Given the description of an element on the screen output the (x, y) to click on. 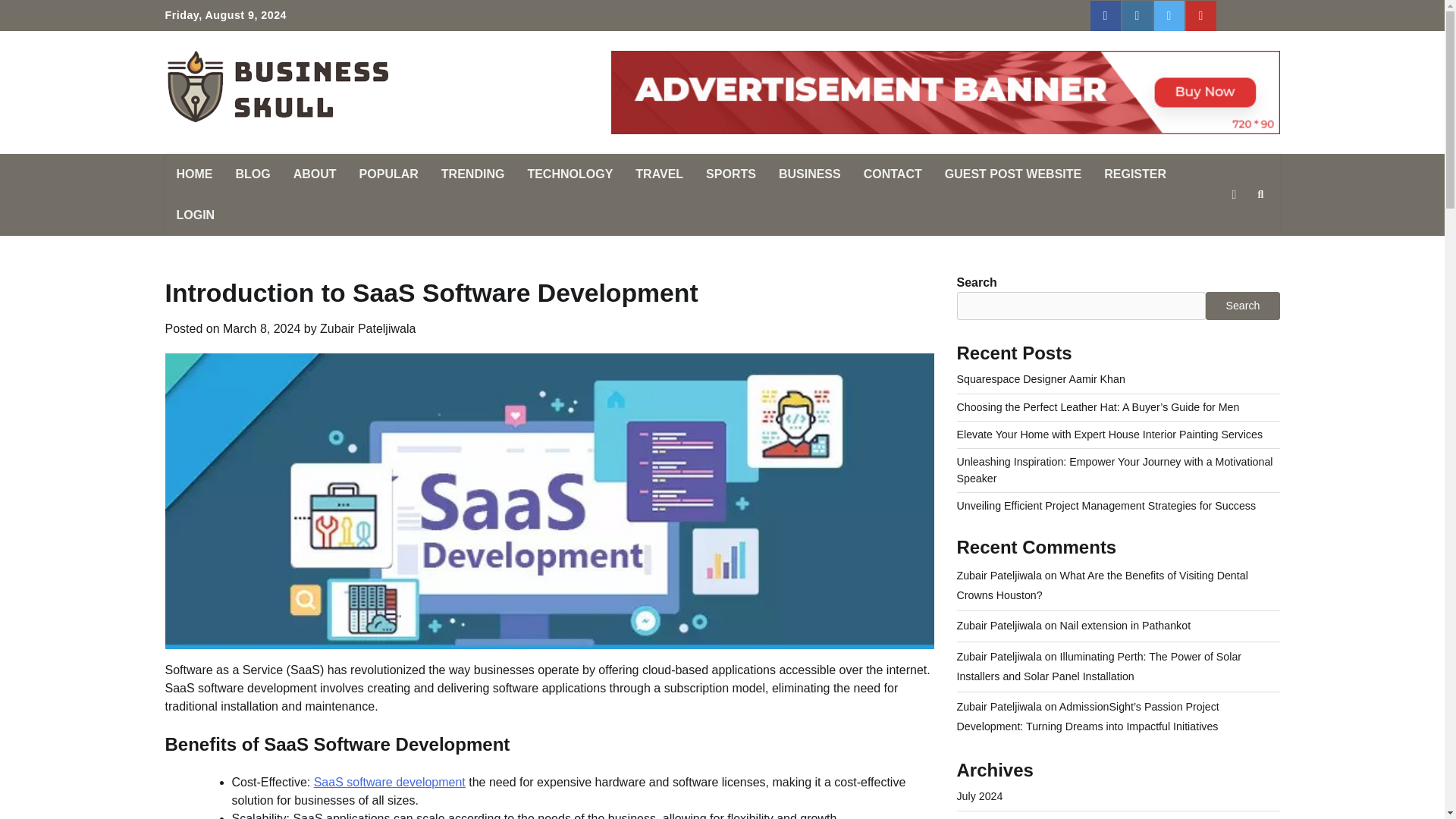
Log In (1264, 15)
BUSINESS (809, 173)
instagram (1137, 15)
REGISTER (1135, 173)
youtube (1200, 15)
Zubair Pateljiwala (367, 328)
HOME (194, 173)
users (1232, 15)
SaaS software development (389, 781)
March 8, 2024 (260, 328)
